Given the description of an element on the screen output the (x, y) to click on. 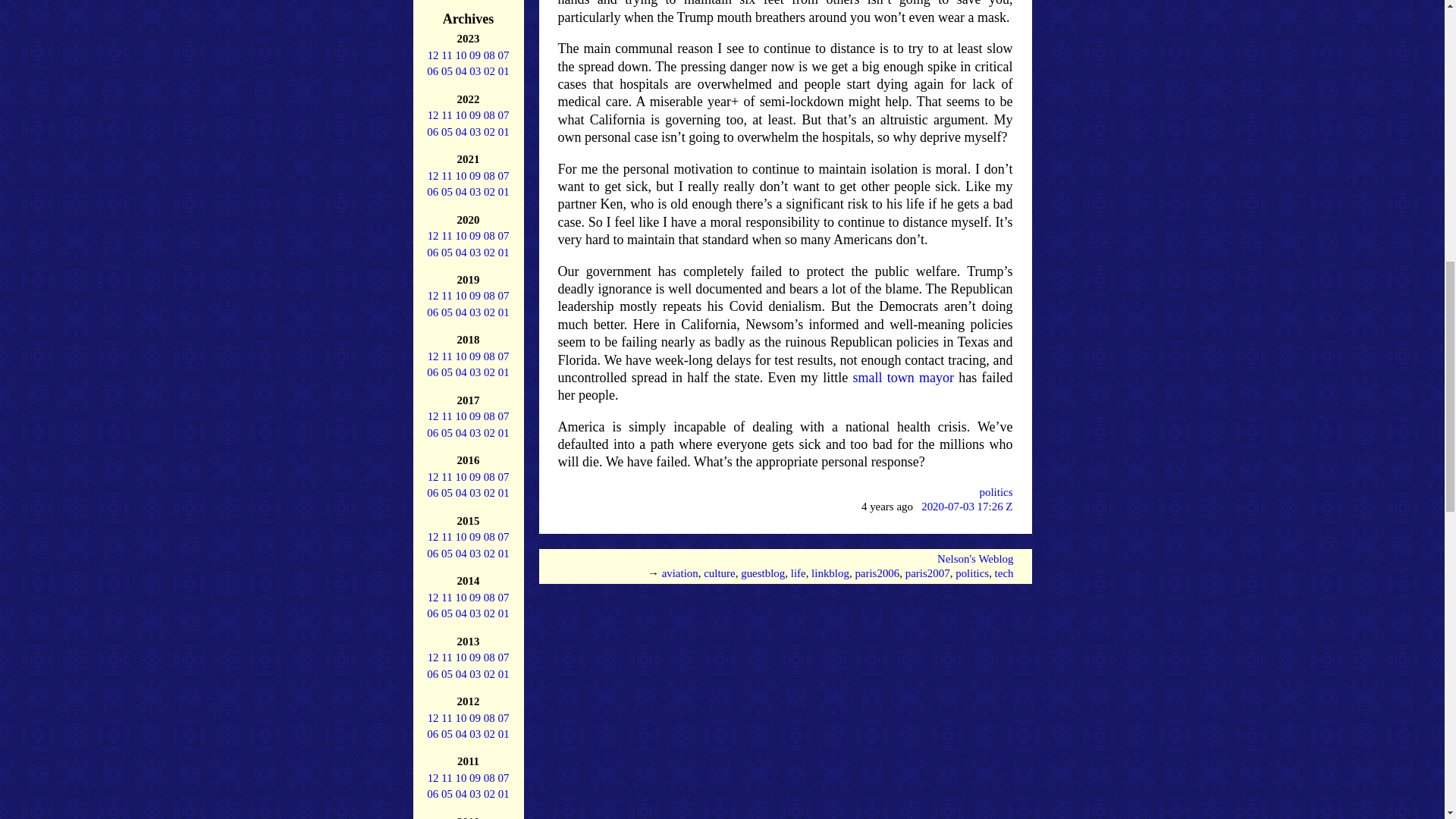
09 (474, 55)
10 (459, 114)
02 (489, 70)
10 (459, 55)
08 (489, 55)
01 (503, 70)
09 (474, 114)
12 (433, 114)
04 (461, 70)
05 (446, 70)
